Given the description of an element on the screen output the (x, y) to click on. 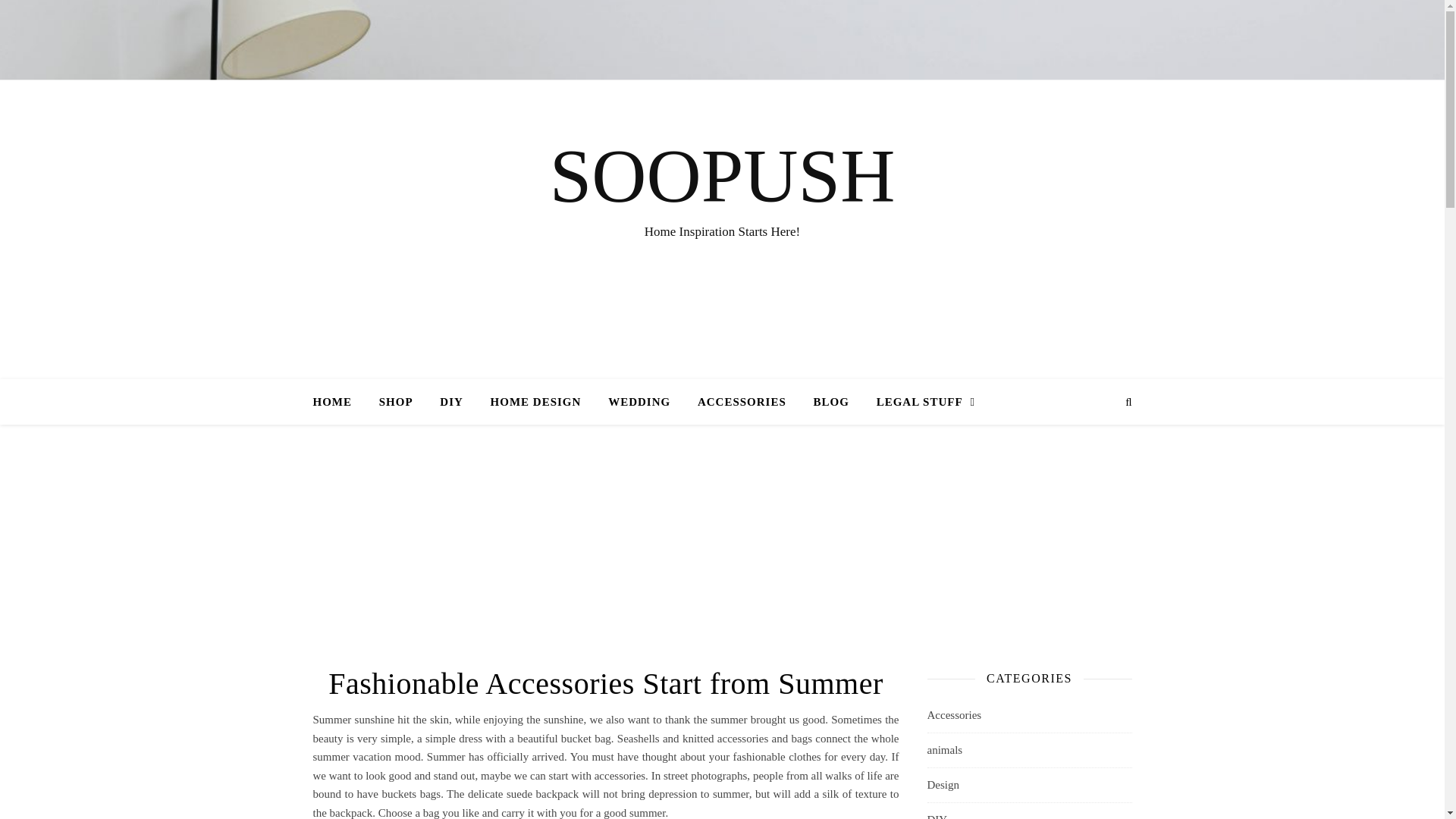
ACCESSORIES (741, 402)
SHOP (395, 402)
LEGAL STUFF (919, 402)
WEDDING (638, 402)
HOME (338, 402)
BLOG (831, 402)
DIY (452, 402)
HOME DESIGN (536, 402)
